Given the description of an element on the screen output the (x, y) to click on. 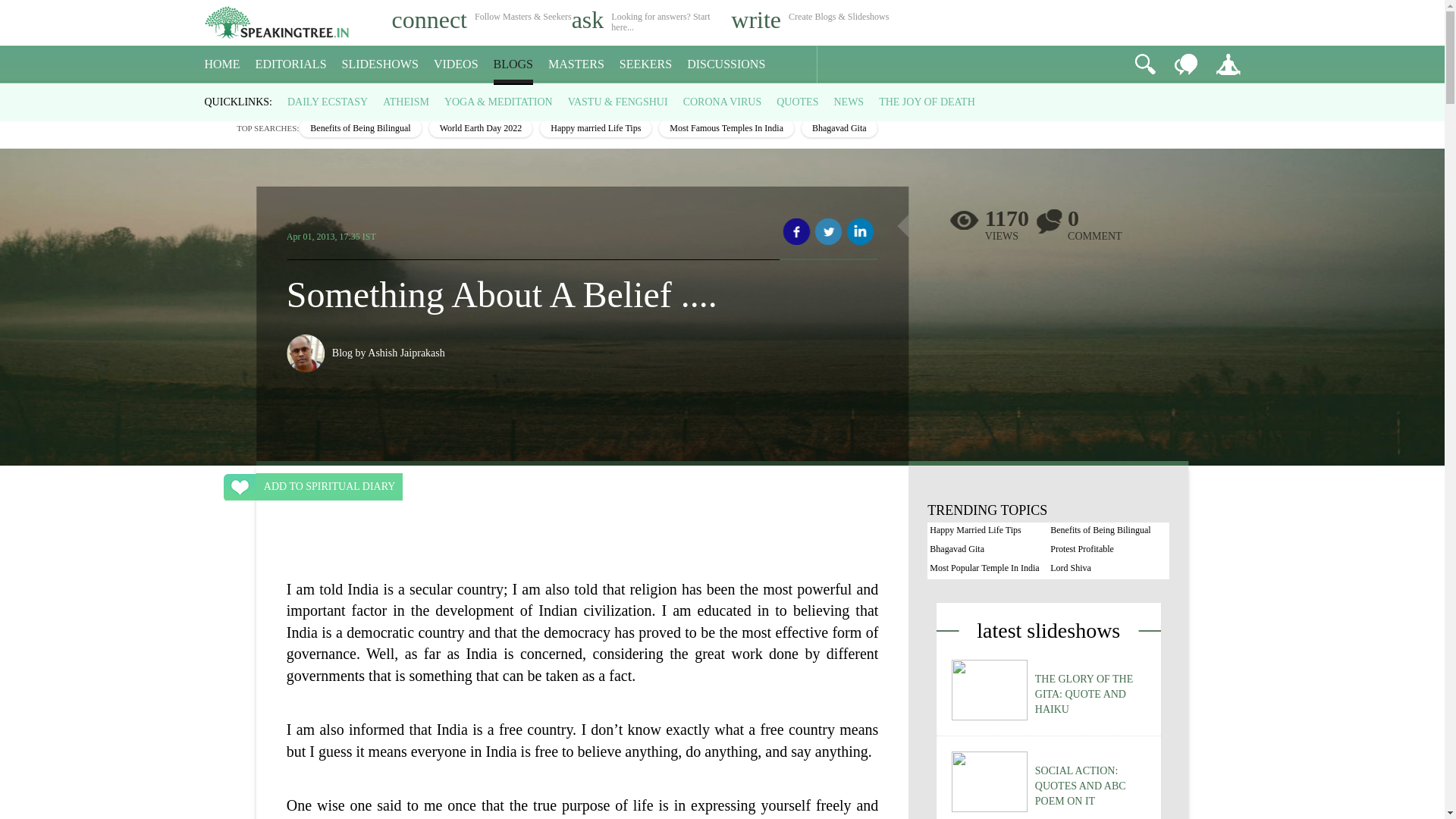
DAILY ECSTASY (327, 101)
SLIDESHOWS (380, 64)
ATHEISM (405, 101)
THE JOY OF DEATH (927, 101)
DISCUSSIONS (726, 64)
Share on Twitter (828, 231)
VIDEOS (456, 64)
Share on Facebook (796, 231)
NEWS (847, 101)
MASTERS (576, 64)
